Given the description of an element on the screen output the (x, y) to click on. 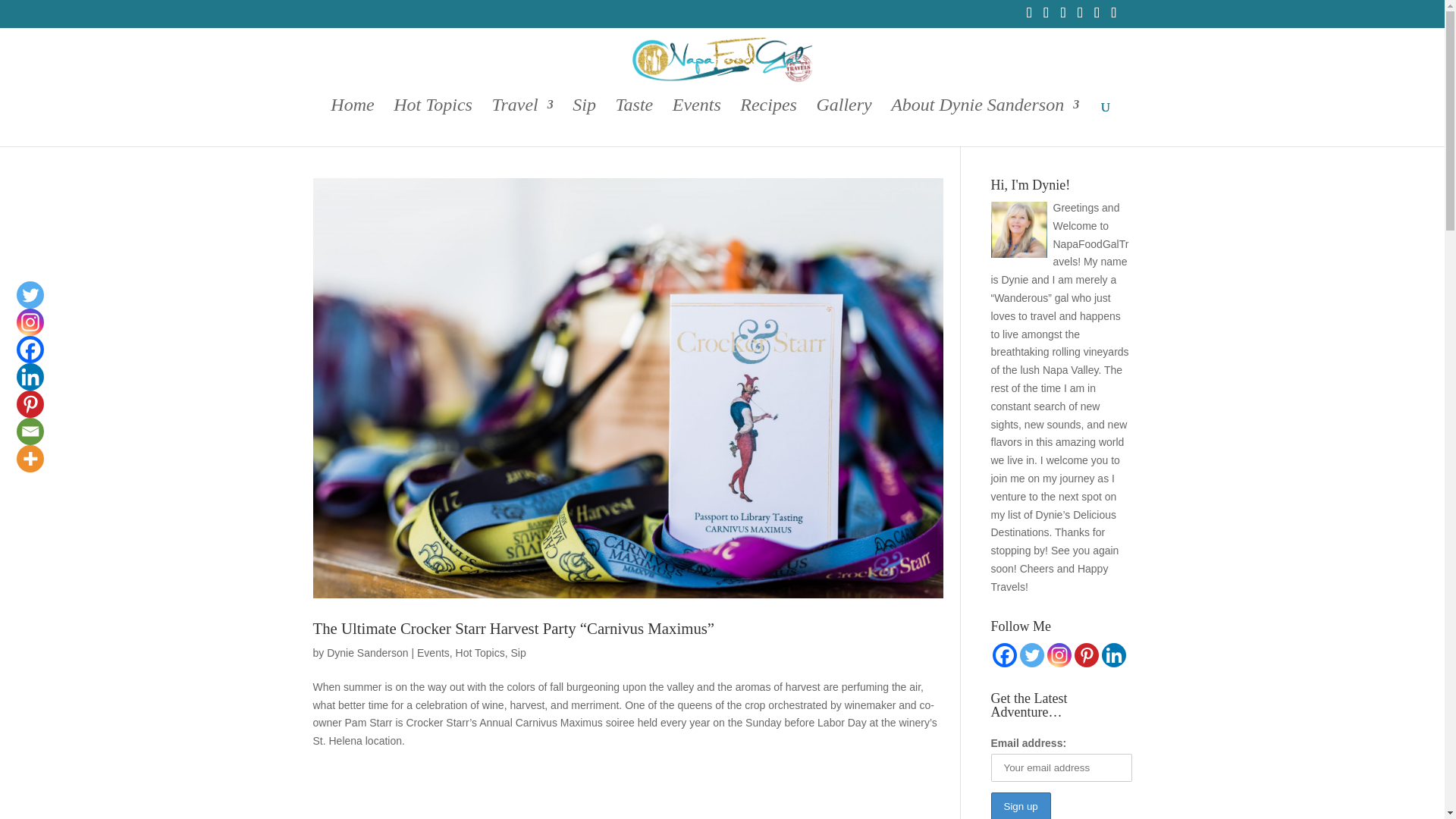
Linkedin (1112, 654)
More (29, 458)
Events (432, 653)
Instagram (29, 321)
Linkedin (29, 376)
Recipes (767, 122)
Facebook (29, 349)
Twitter (29, 294)
Dynie Sanderson (366, 653)
About Dynie Sanderson (984, 122)
Facebook (1003, 654)
Sign up (1019, 805)
Pinterest (1085, 654)
Sip (518, 653)
Instagram (1058, 654)
